Given the description of an element on the screen output the (x, y) to click on. 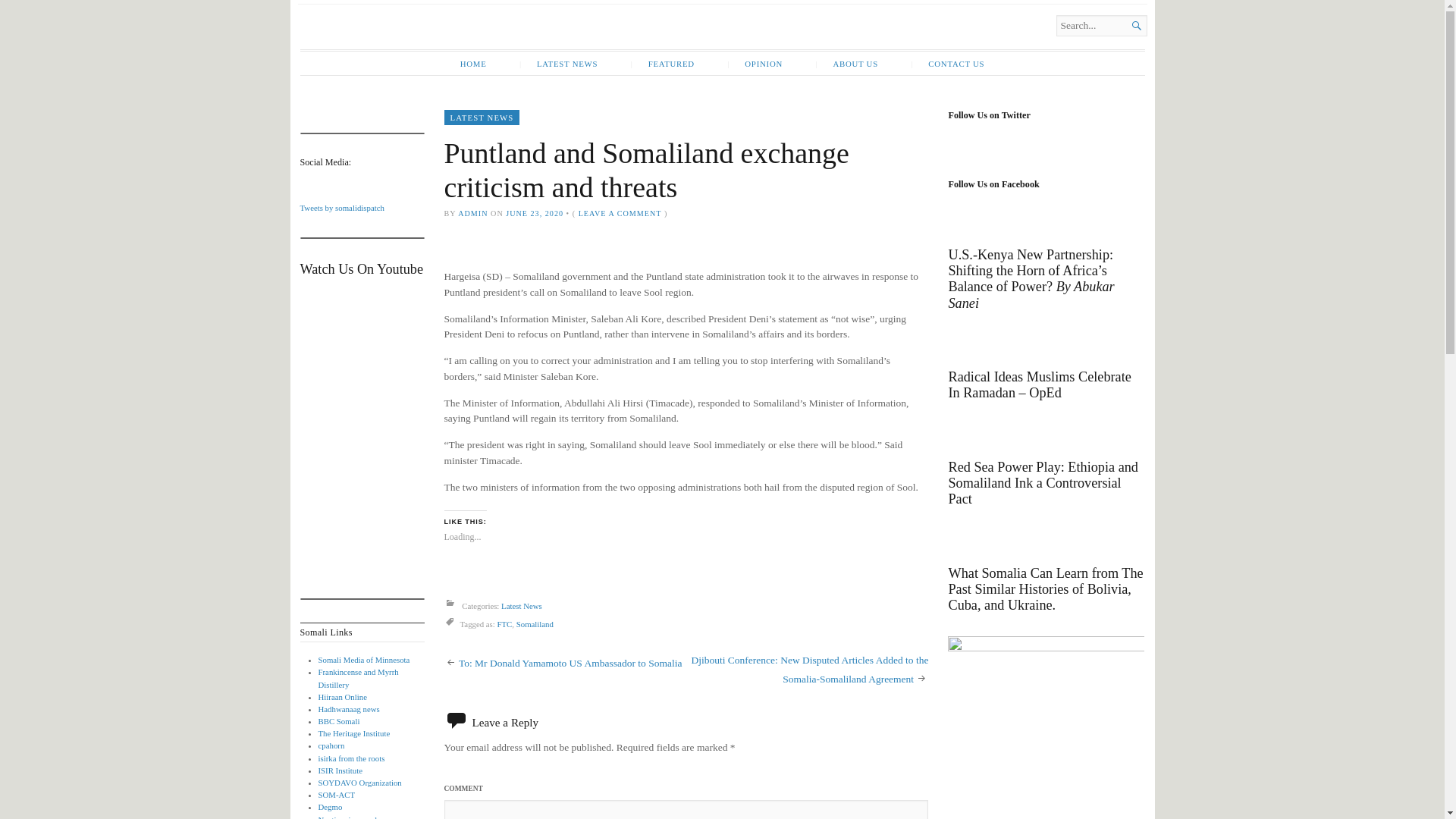
9:40 pm (534, 213)
The Heritage Institute (354, 732)
HOME (473, 63)
ISIR Institute (340, 769)
OPINION (754, 63)
cpahorn (331, 745)
CONTACT US (946, 63)
Home (463, 44)
Frankincense and Myrrh Distillery (358, 677)
LATEST NEWS (557, 63)
ADMIN (472, 213)
SOM-ACT (336, 794)
Hiiraan Online (342, 696)
Somali Dispatch (463, 44)
Hadhwanaag news (349, 708)
